Given the description of an element on the screen output the (x, y) to click on. 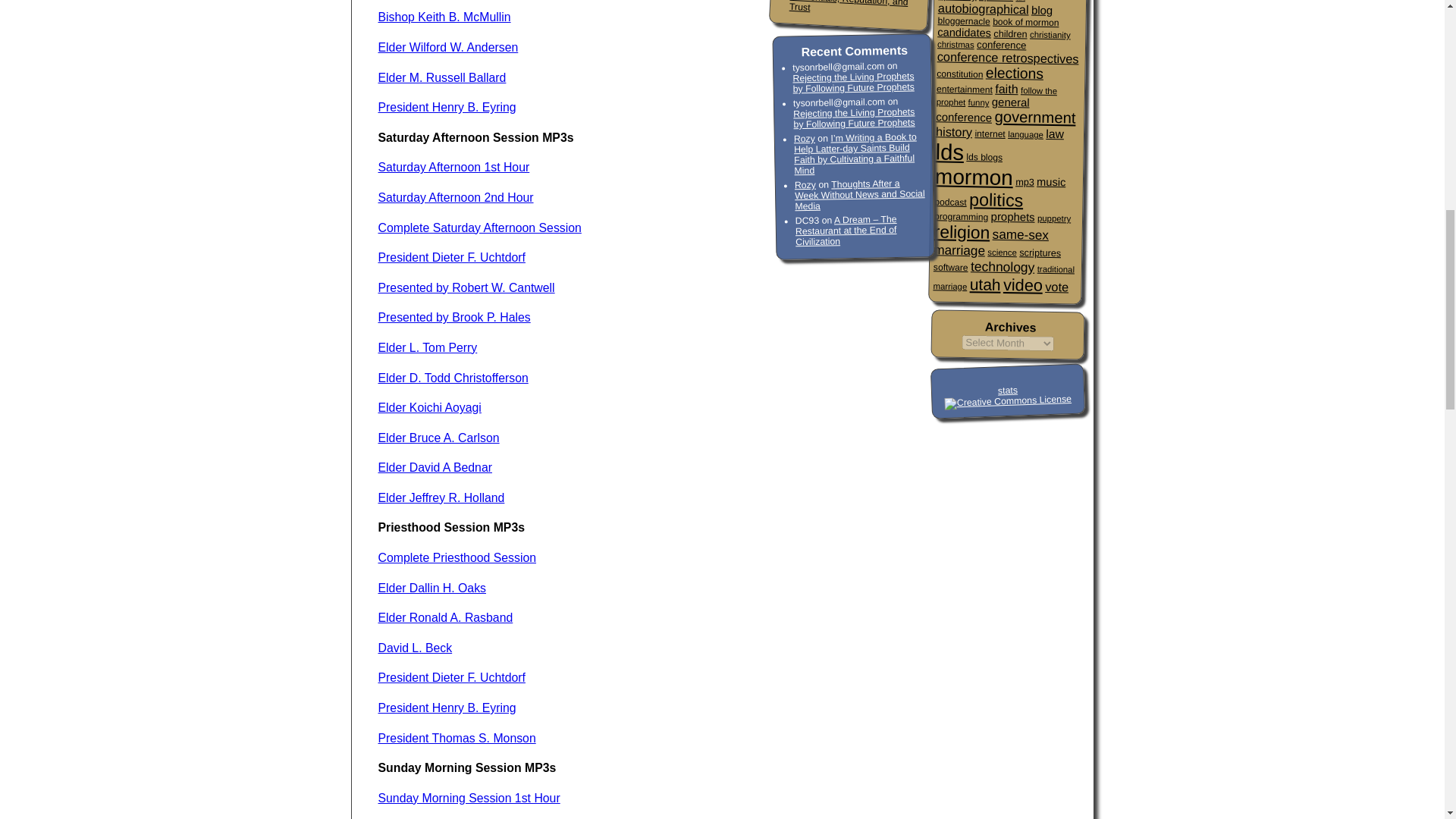
President Henry B. Eyring (446, 106)
Elder David A Bednar (434, 467)
Elder Koichi Aoyagi (428, 407)
Presented by Robert W. Cantwell (465, 287)
Elder L. Tom Perry (427, 347)
President Dieter F. Uchtdorf (450, 256)
Elder D. Todd Christofferson (452, 377)
Complete Saturday Afternoon Session (478, 227)
Presented by Brook P. Hales (453, 317)
Saturday Afternoon 2nd Hour (454, 196)
Bishop Keith B. McMullin (444, 16)
Elder Wilford W. Andersen (447, 47)
Elder Bruce A. Carlson (438, 437)
Saturday Afternoon 1st Hour (453, 166)
Elder M. Russell Ballard (441, 77)
